Given the description of an element on the screen output the (x, y) to click on. 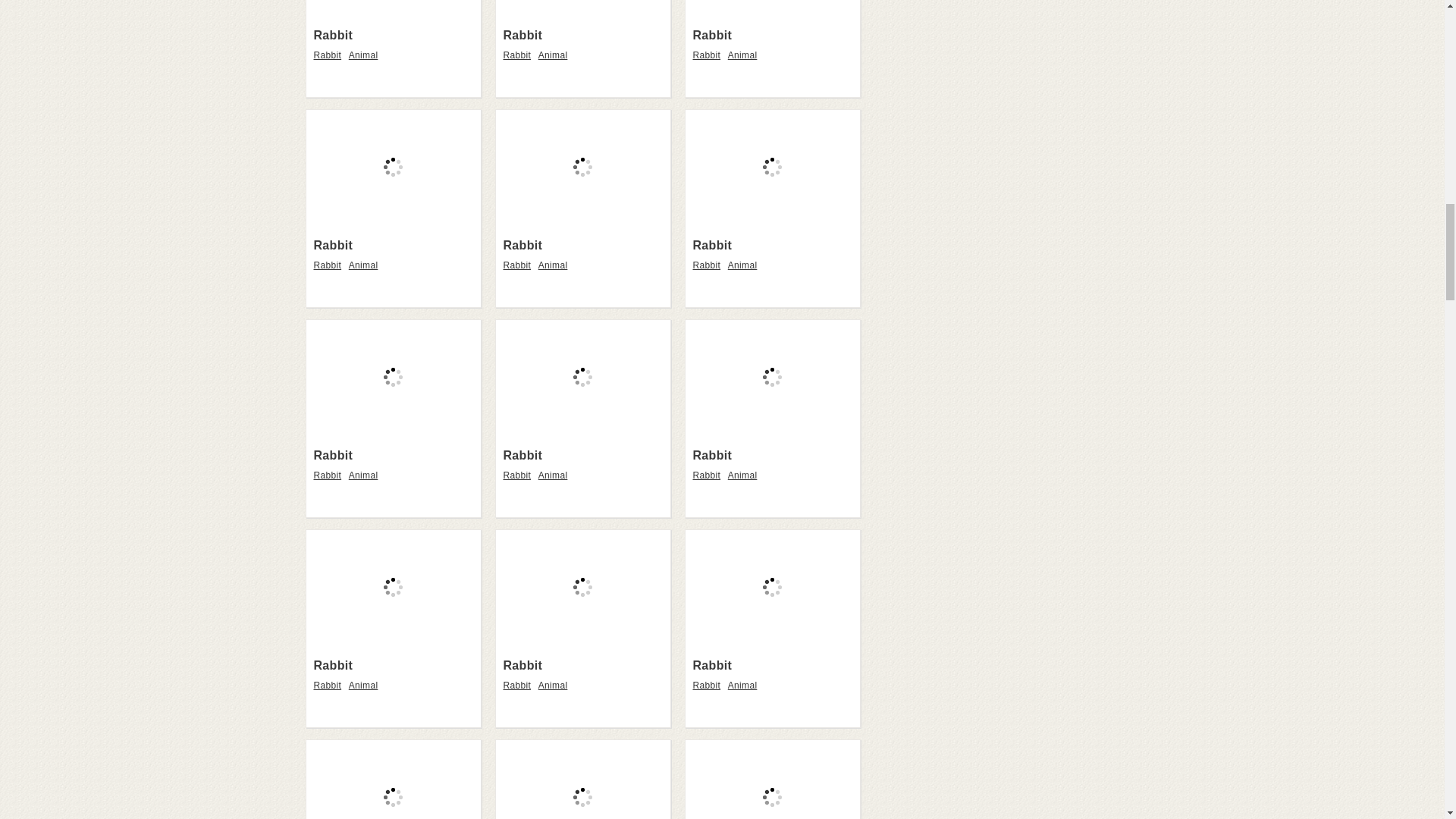
Rabbit (519, 55)
Rabbit (709, 55)
Rabbit (523, 34)
Rabbit (330, 55)
Animal (555, 55)
Rabbit (333, 34)
Animal (365, 55)
Rabbit (712, 34)
Rabbit (392, 10)
